Given the description of an element on the screen output the (x, y) to click on. 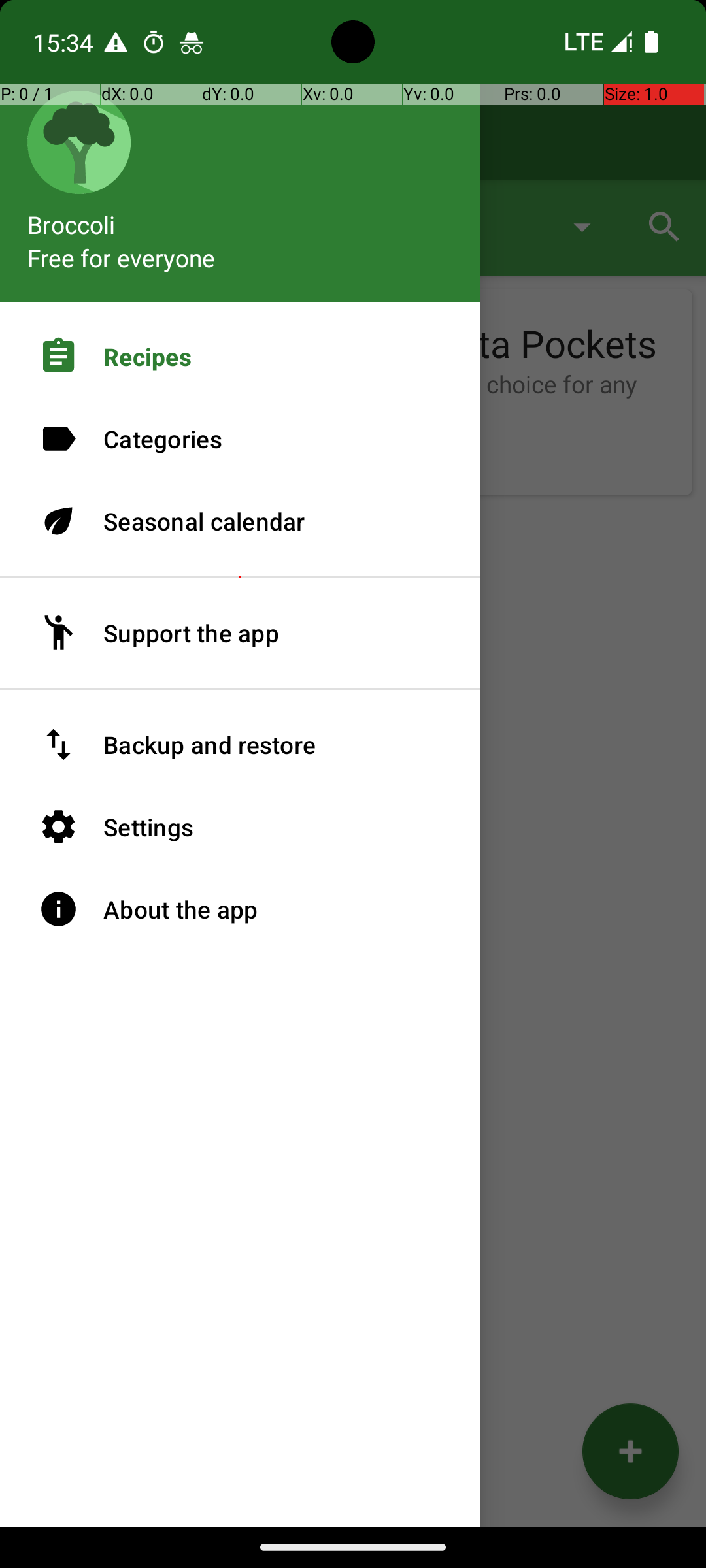
Free for everyone Element type: android.widget.TextView (121, 257)
Seasonal calendar Element type: android.widget.CheckedTextView (239, 521)
Support the app Element type: android.widget.CheckedTextView (239, 632)
Backup and restore Element type: android.widget.CheckedTextView (239, 744)
About the app Element type: android.widget.CheckedTextView (239, 909)
